Given the description of an element on the screen output the (x, y) to click on. 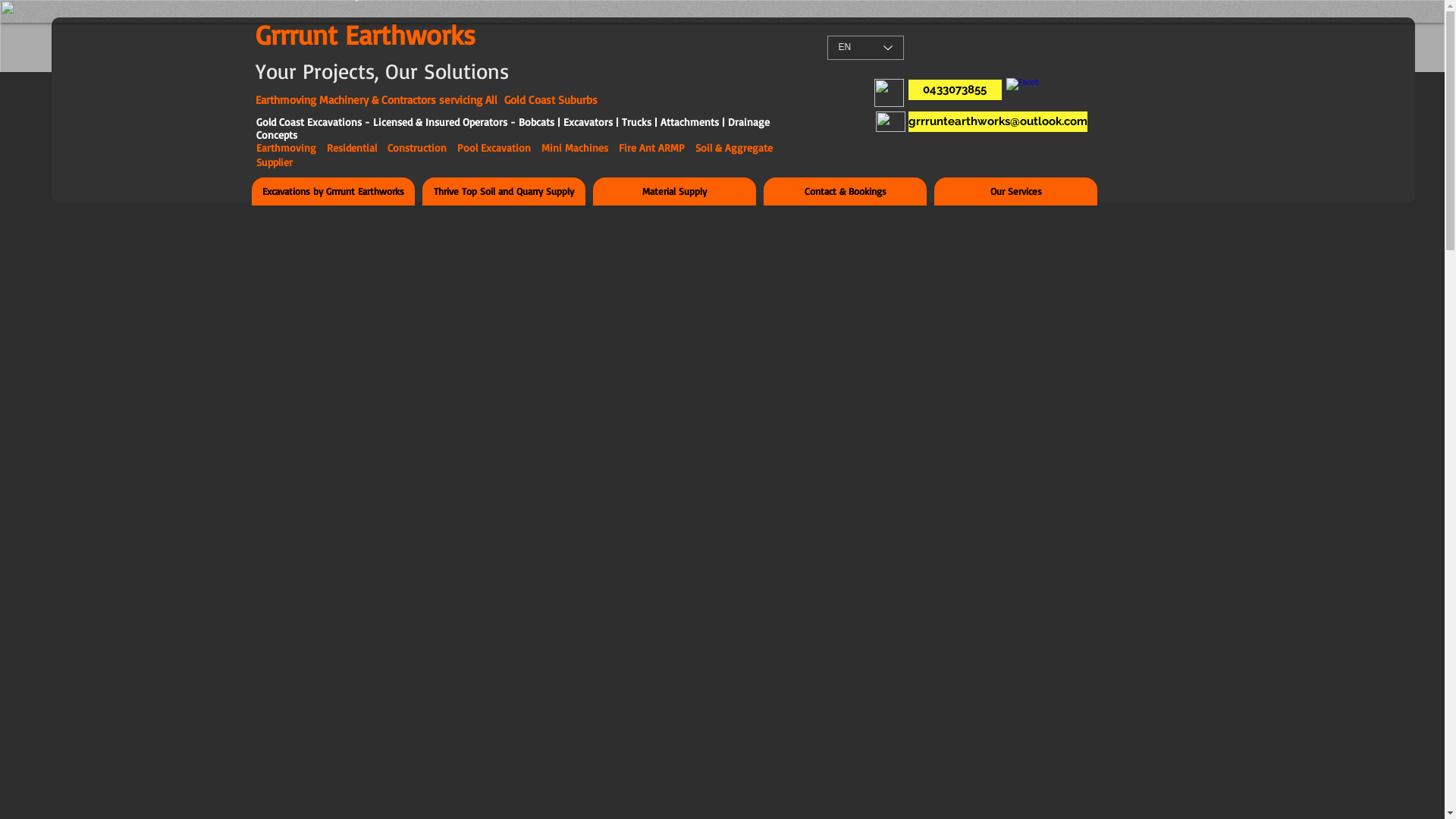
Thrive Top Soil and Quarry Supply Element type: text (503, 191)
Excavations by Grrrunt Earthworks Element type: text (332, 191)
Contact & Bookings Element type: text (844, 191)
0433073855 Element type: text (954, 89)
grrruntearthworks@outlook.com Element type: text (997, 121)
Material Supply Element type: text (674, 191)
